Given the description of an element on the screen output the (x, y) to click on. 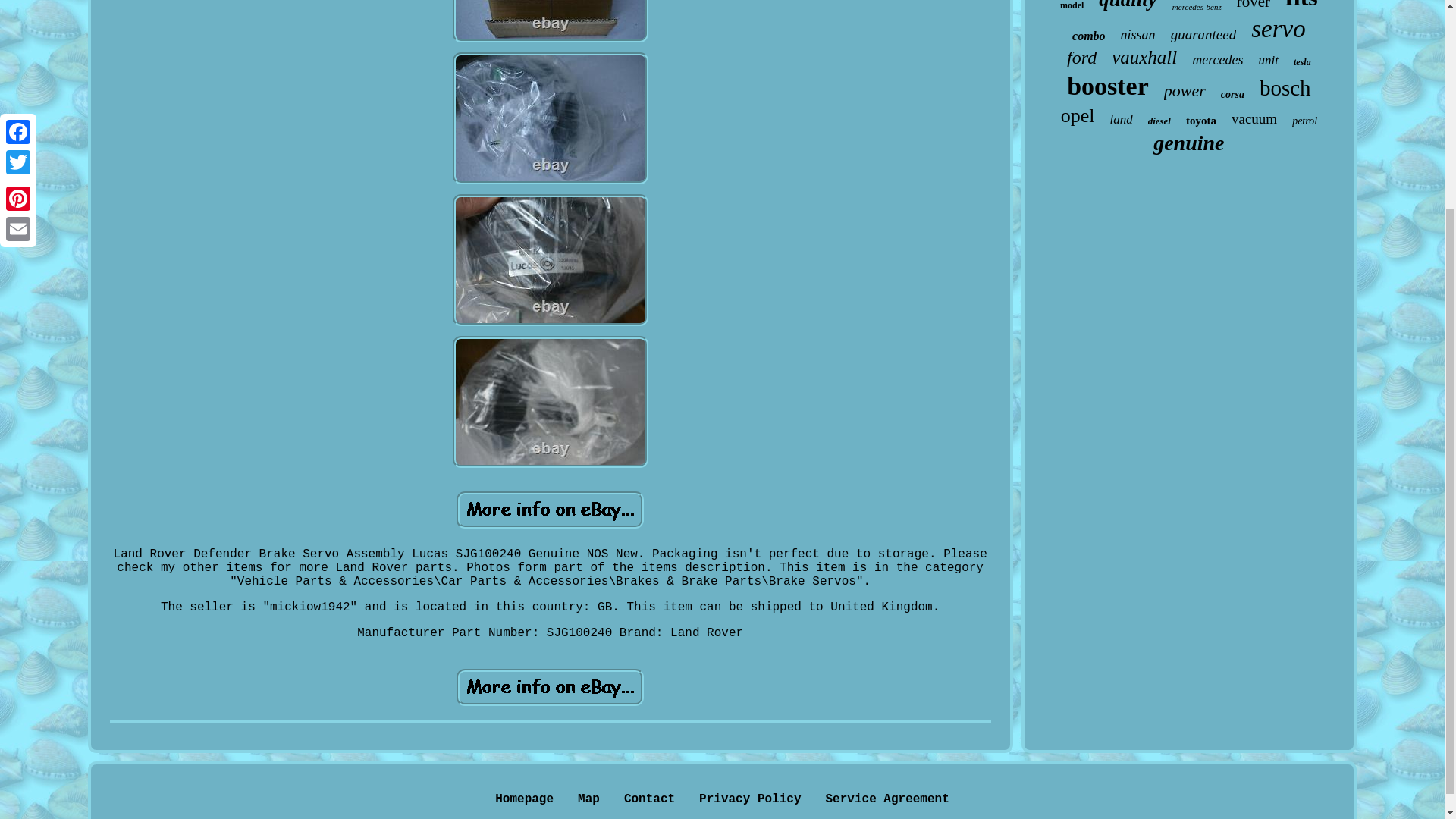
ford (1081, 57)
quality (1128, 5)
mercedes-benz (1196, 6)
rover (1252, 5)
guaranteed (1203, 34)
combo (1088, 36)
fits (1301, 5)
servo (1277, 29)
model (1071, 5)
